Given the description of an element on the screen output the (x, y) to click on. 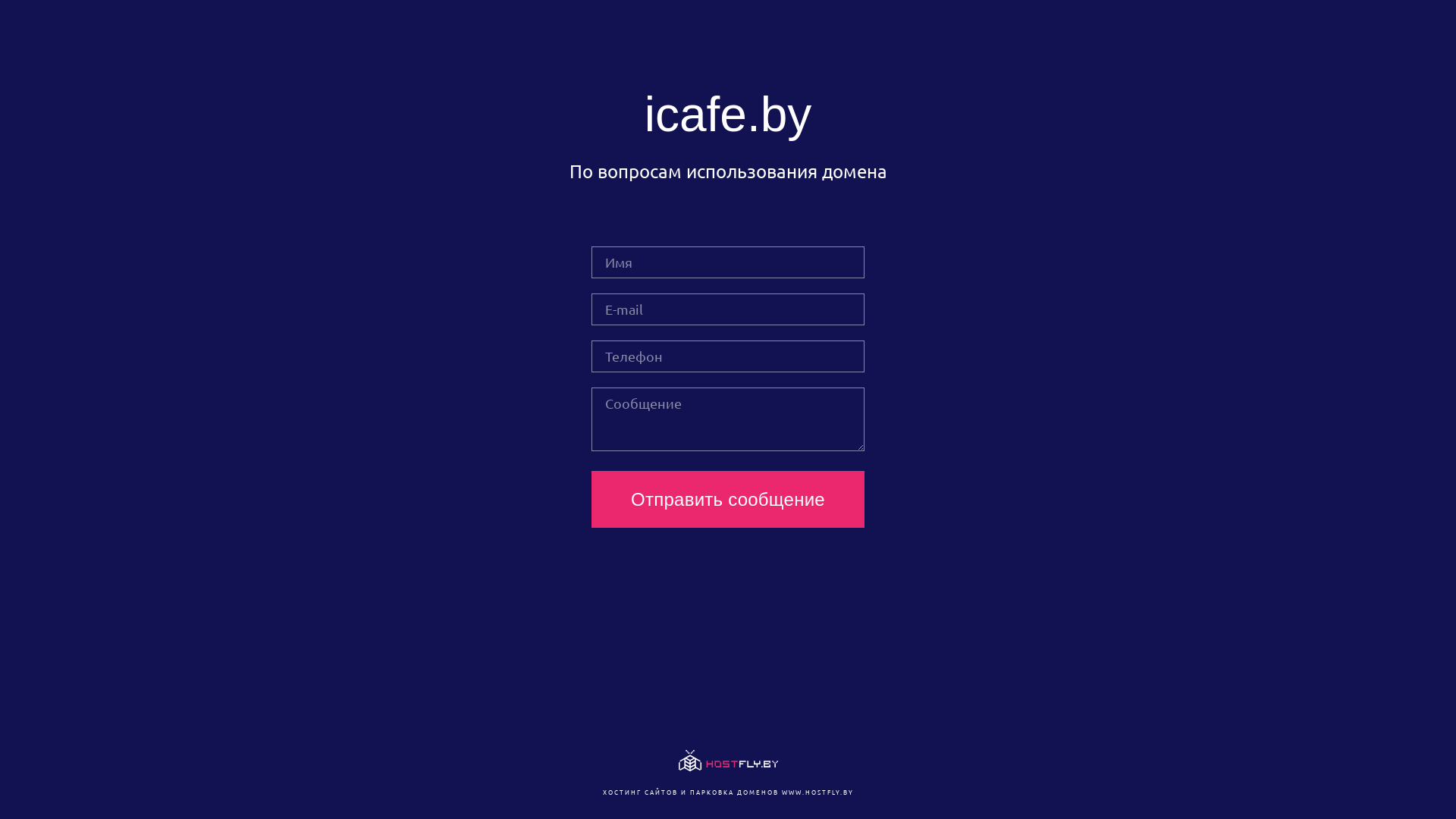
WWW.HOSTFLY.BY Element type: text (817, 791)
